Given the description of an element on the screen output the (x, y) to click on. 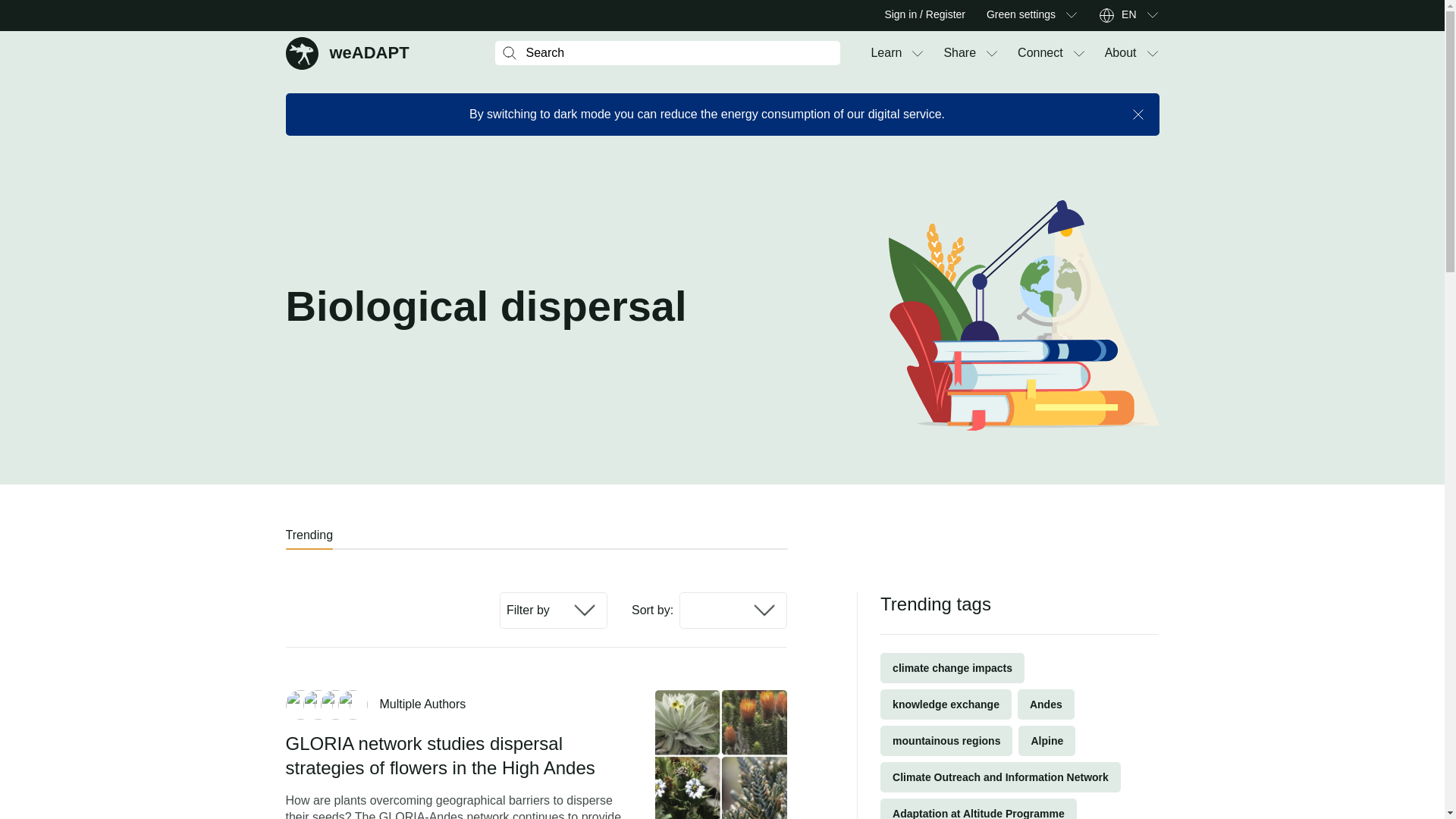
Translate Submenu (1151, 14)
About (1121, 53)
Share (959, 53)
Learn (885, 53)
Submenu (347, 52)
Connect (1071, 14)
EN (1039, 53)
Green settings (1128, 14)
